Given the description of an element on the screen output the (x, y) to click on. 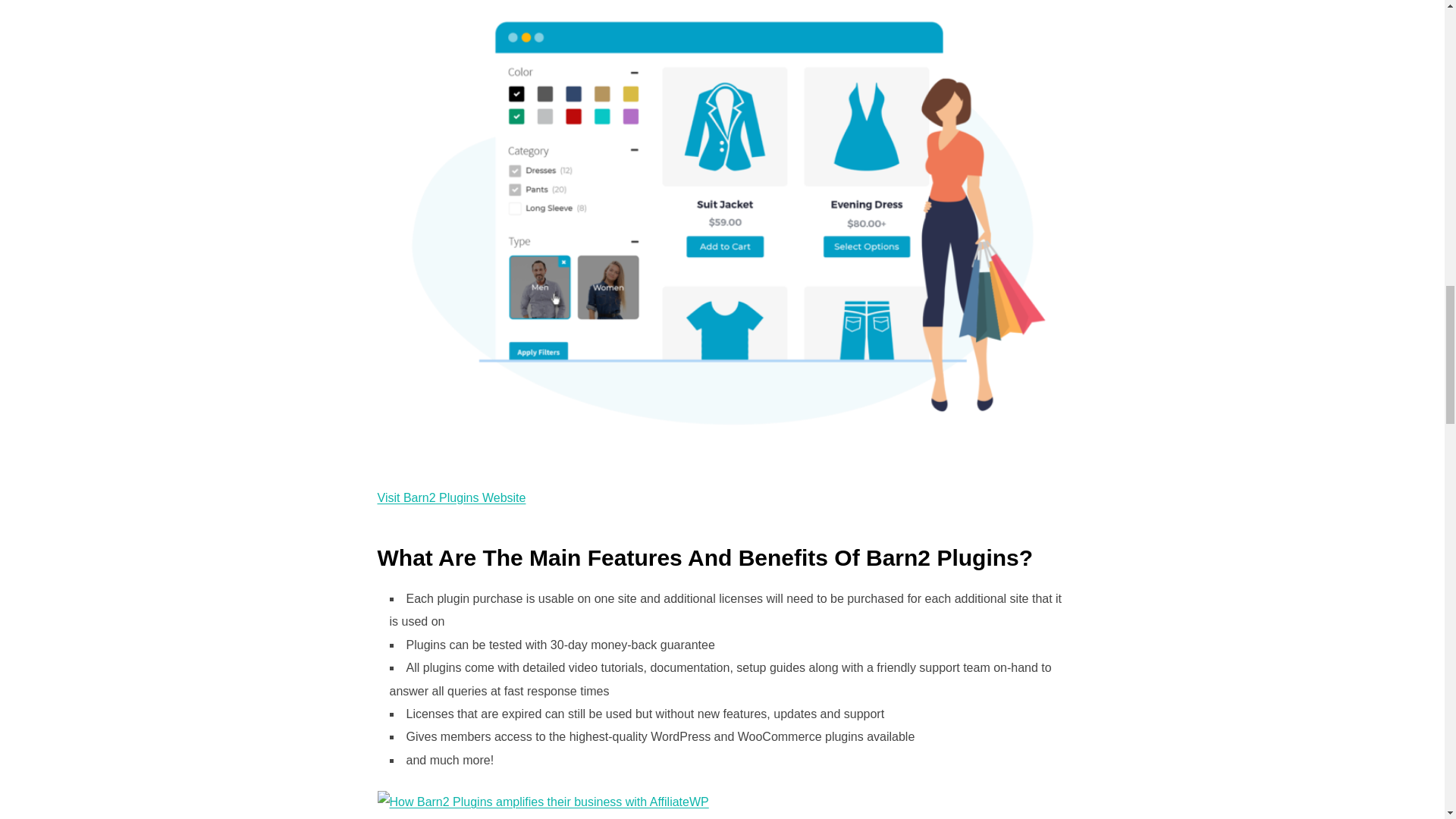
Visit Barn2 Plugins Website (451, 497)
